Given the description of an element on the screen output the (x, y) to click on. 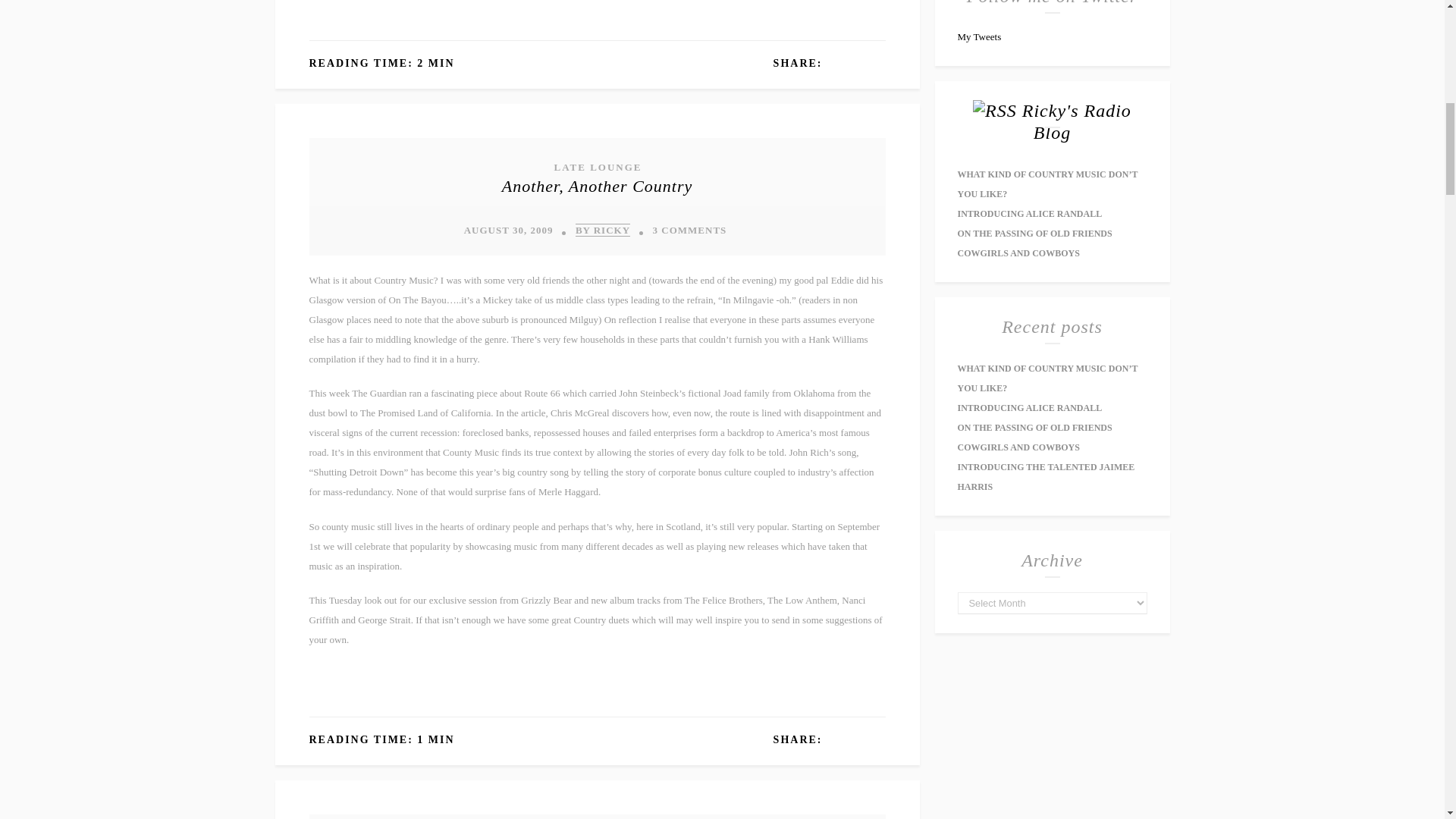
LATE LOUNGE (596, 165)
Permanent (597, 185)
3 COMMENTS (689, 229)
Another, Another Country (597, 185)
AUGUST 30, 2009 (508, 229)
BY RICKY (602, 228)
